Given the description of an element on the screen output the (x, y) to click on. 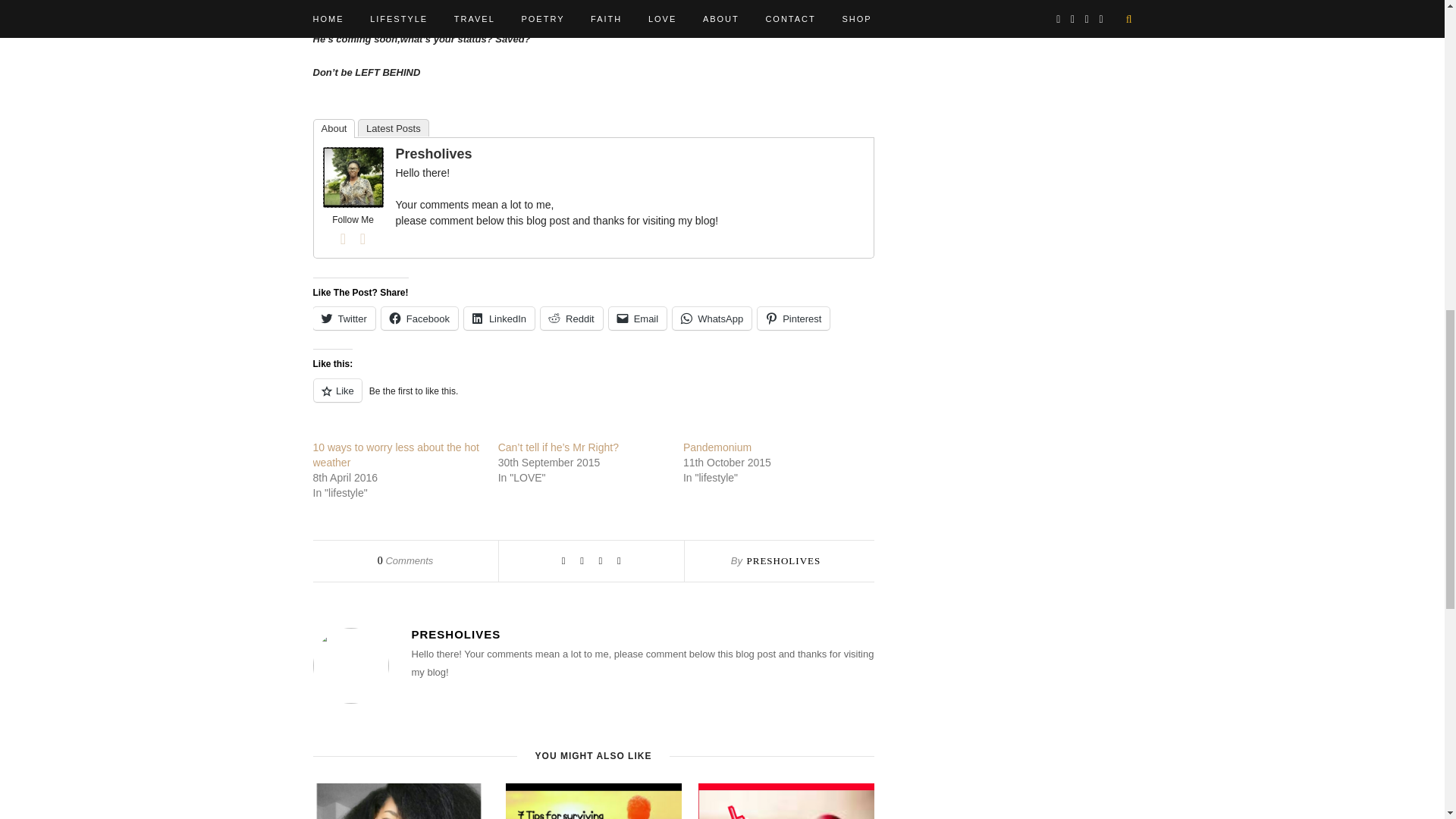
Click to share on Twitter (343, 318)
Click to share on LinkedIn (499, 318)
Twitter (362, 239)
Presholives (433, 153)
Latest Posts (393, 127)
Click to email a link to a friend (637, 318)
Click to share on Pinterest (793, 318)
Twitter (343, 318)
Click to share on Reddit (571, 318)
Facebook (342, 239)
Presholives (353, 204)
Click to share on WhatsApp (711, 318)
Click to share on Facebook (419, 318)
Facebook (419, 318)
About (334, 128)
